Given the description of an element on the screen output the (x, y) to click on. 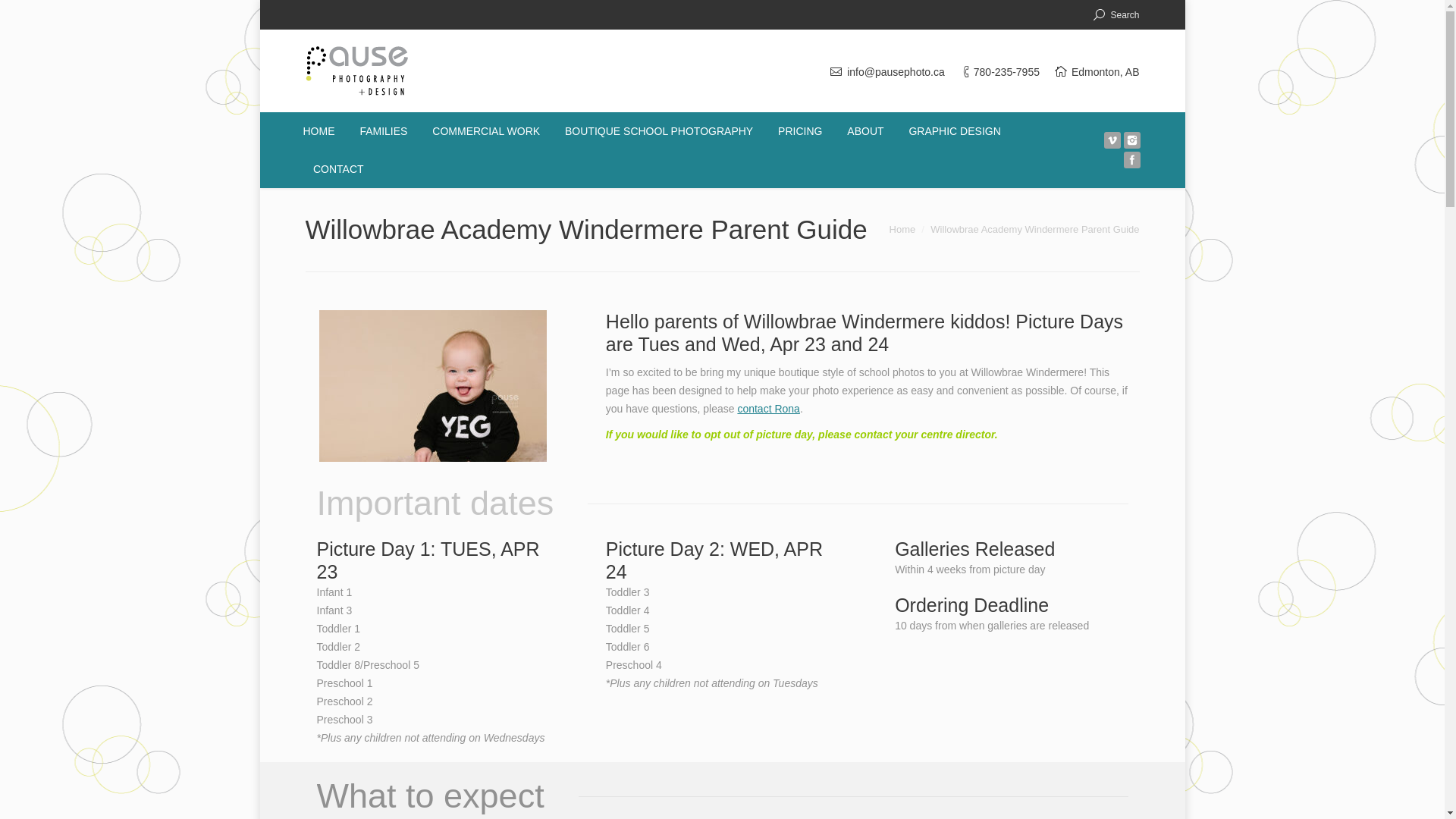
Vimeo (1112, 139)
COMMERCIAL WORK (485, 131)
PRICING (799, 131)
Go! (16, 15)
CONTACT (339, 169)
HOME (317, 131)
best-edmonton-daycare-photographer-58 (432, 385)
BOUTIQUE SCHOOL PHOTOGRAPHY (659, 131)
Instagram (1132, 139)
FAMILIES (382, 131)
Facebook (1132, 159)
ABOUT (864, 131)
Search (1115, 14)
GRAPHIC DESIGN (954, 131)
